Given the description of an element on the screen output the (x, y) to click on. 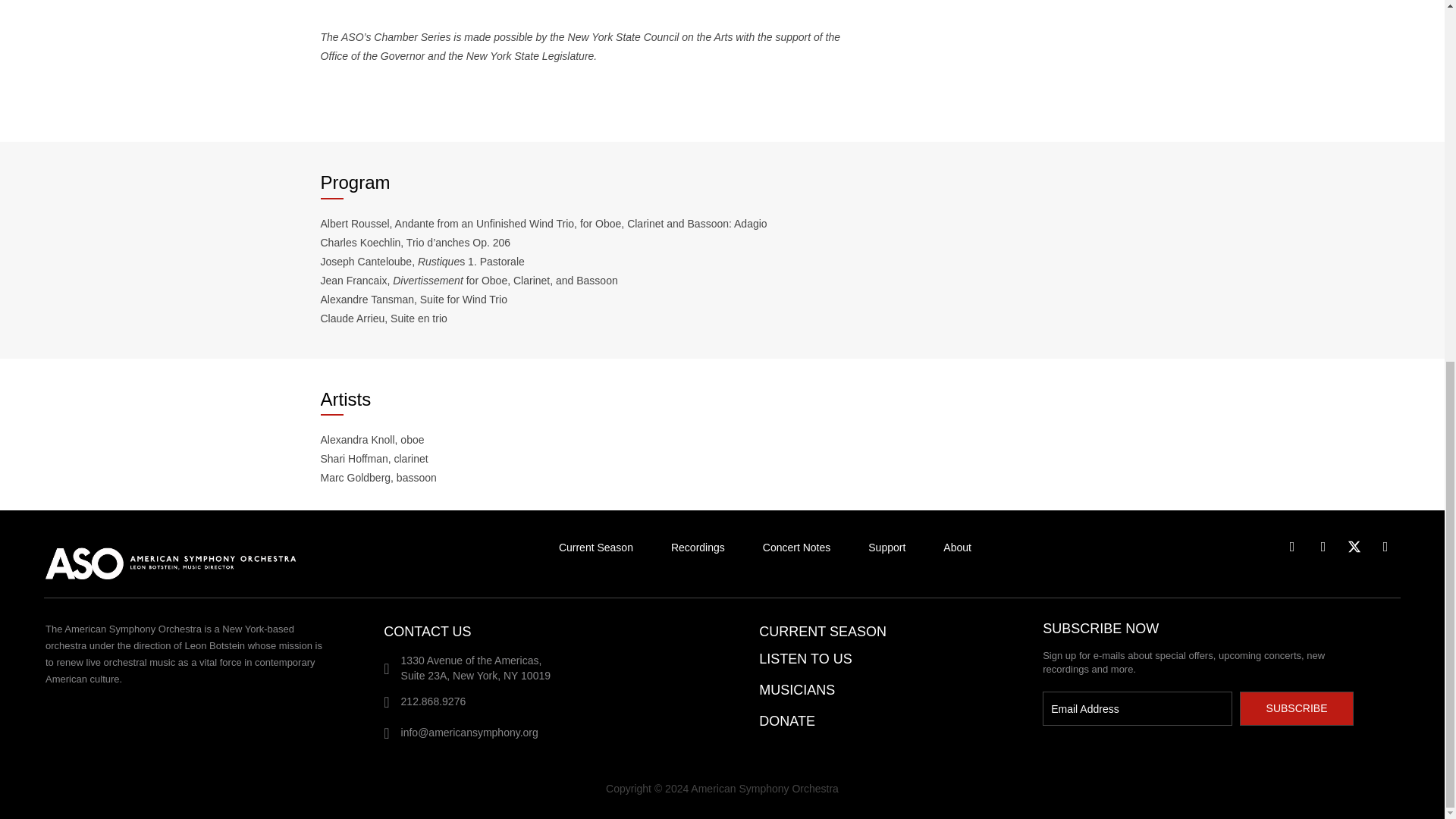
logo (189, 559)
Facebook (1292, 546)
Instagram (1322, 546)
YouTube (1385, 546)
